Given the description of an element on the screen output the (x, y) to click on. 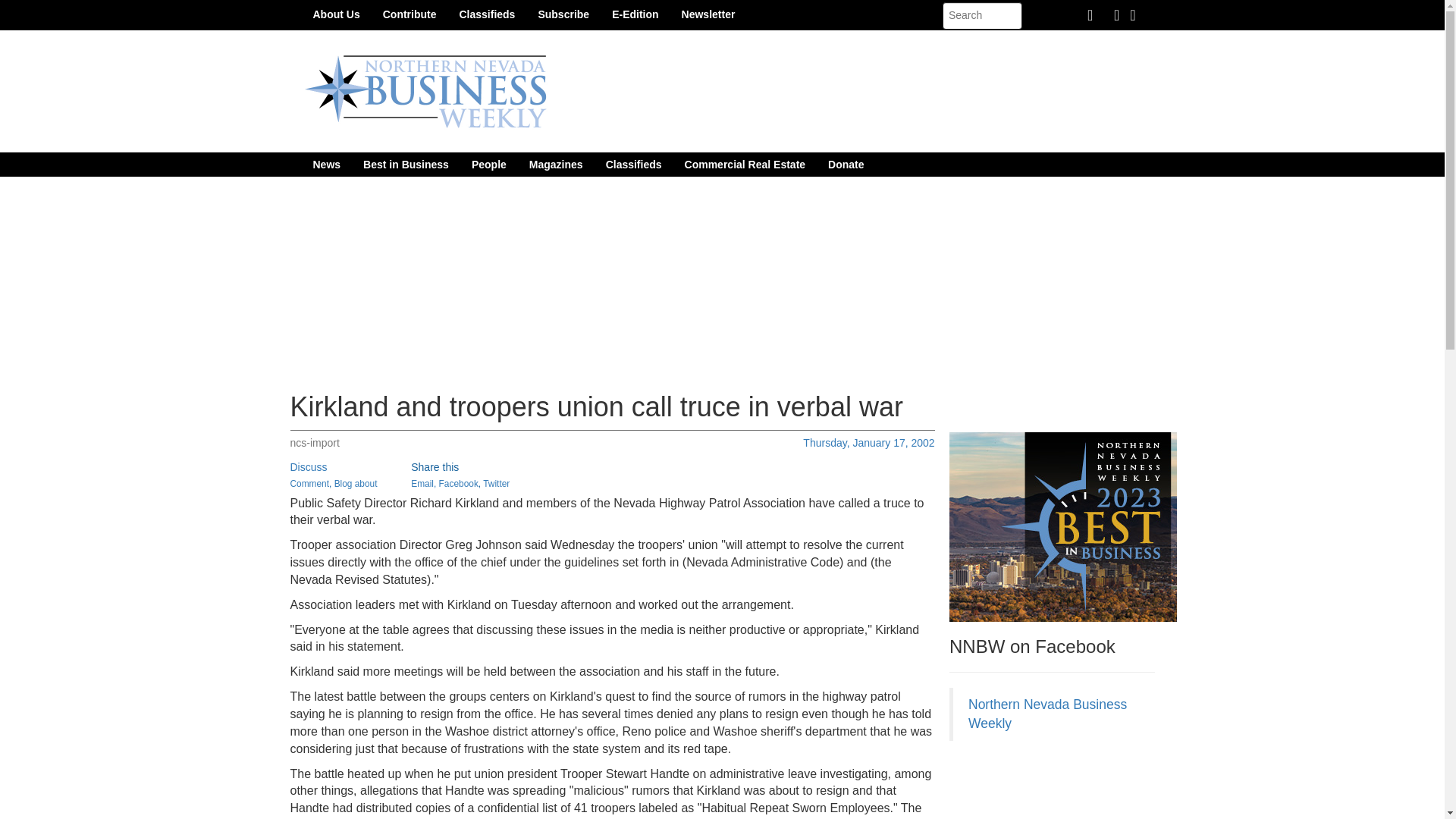
E-Edition (634, 14)
Discuss (307, 467)
Best in Business (406, 164)
About Us (336, 14)
Facebook (459, 483)
3rd party ad content (1062, 787)
Newsletter (707, 14)
Magazines (556, 164)
Email, (422, 483)
Contribute (409, 14)
Classifieds (633, 164)
Blog about (355, 483)
Commercial Real Estate (744, 164)
Donate (845, 164)
